Given the description of an element on the screen output the (x, y) to click on. 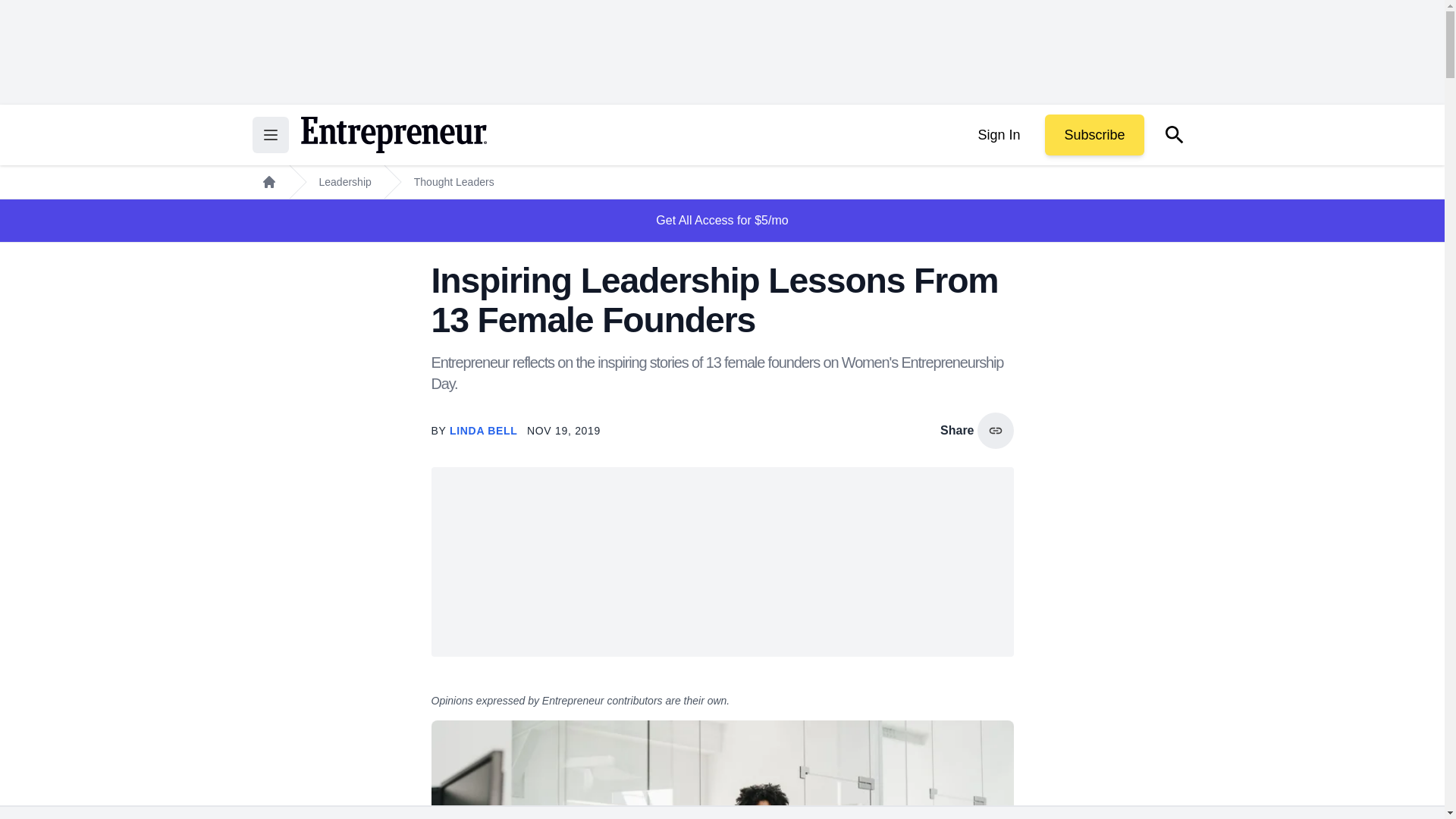
Subscribe (1093, 134)
copy (994, 430)
Sign In (998, 134)
Return to the home page (392, 135)
